Given the description of an element on the screen output the (x, y) to click on. 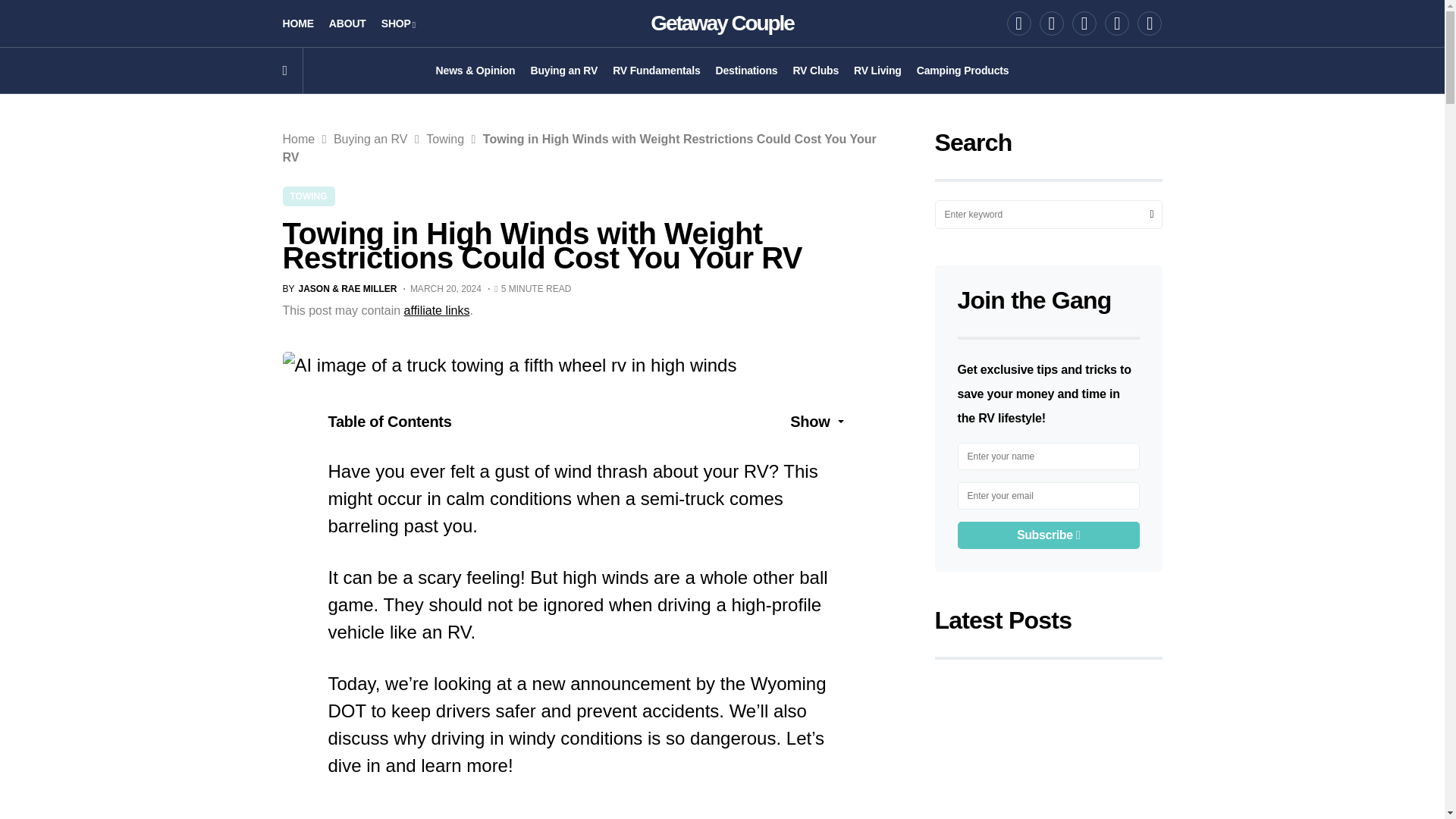
Camping Products (963, 70)
Getaway Couple (721, 23)
Buying an RV (562, 70)
RV Clubs (815, 70)
RV Living (877, 70)
Destinations (746, 70)
Home (298, 138)
RV Fundamentals (656, 70)
